Given the description of an element on the screen output the (x, y) to click on. 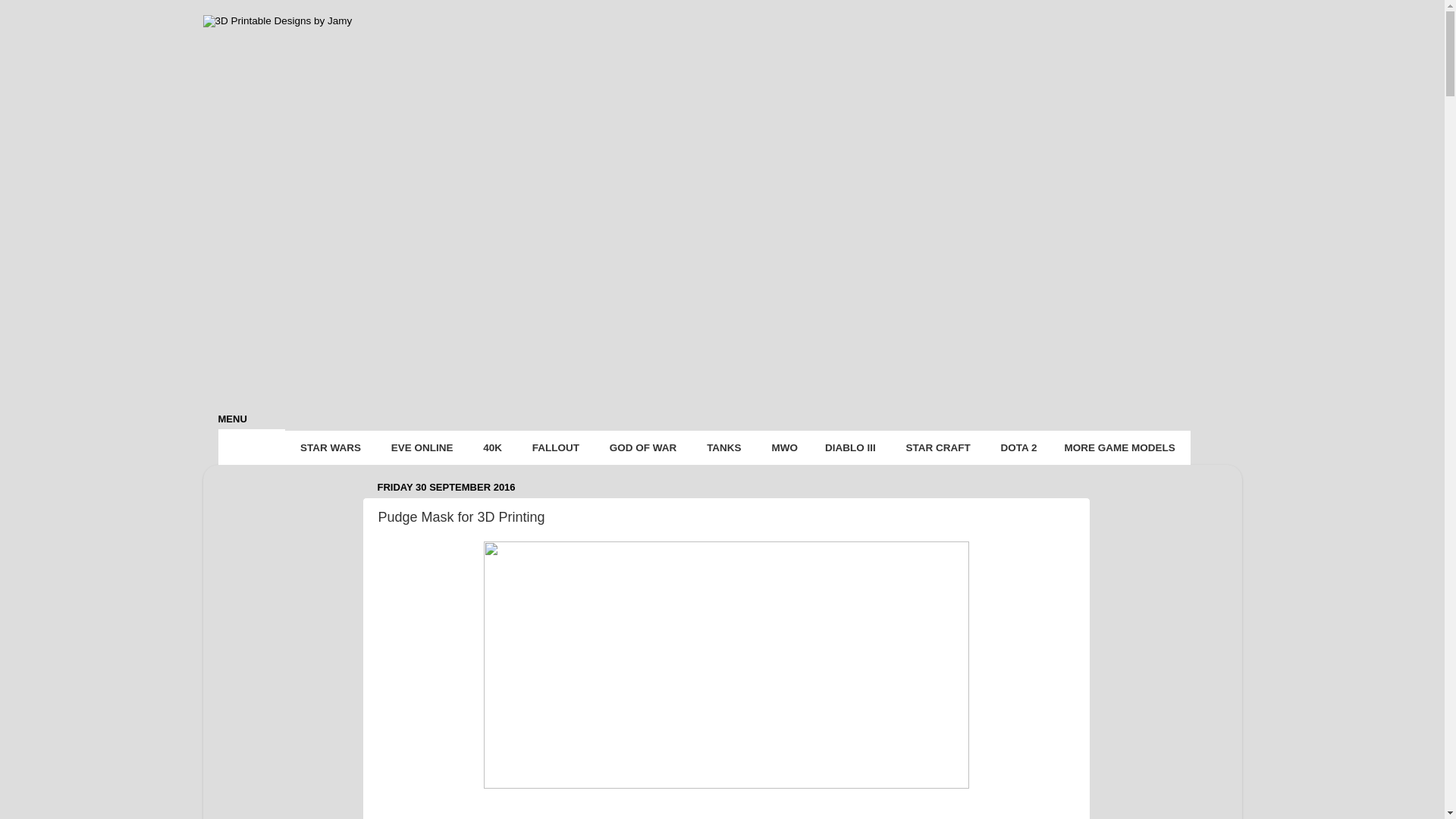
HOME Element type: text (250, 446)
